Given the description of an element on the screen output the (x, y) to click on. 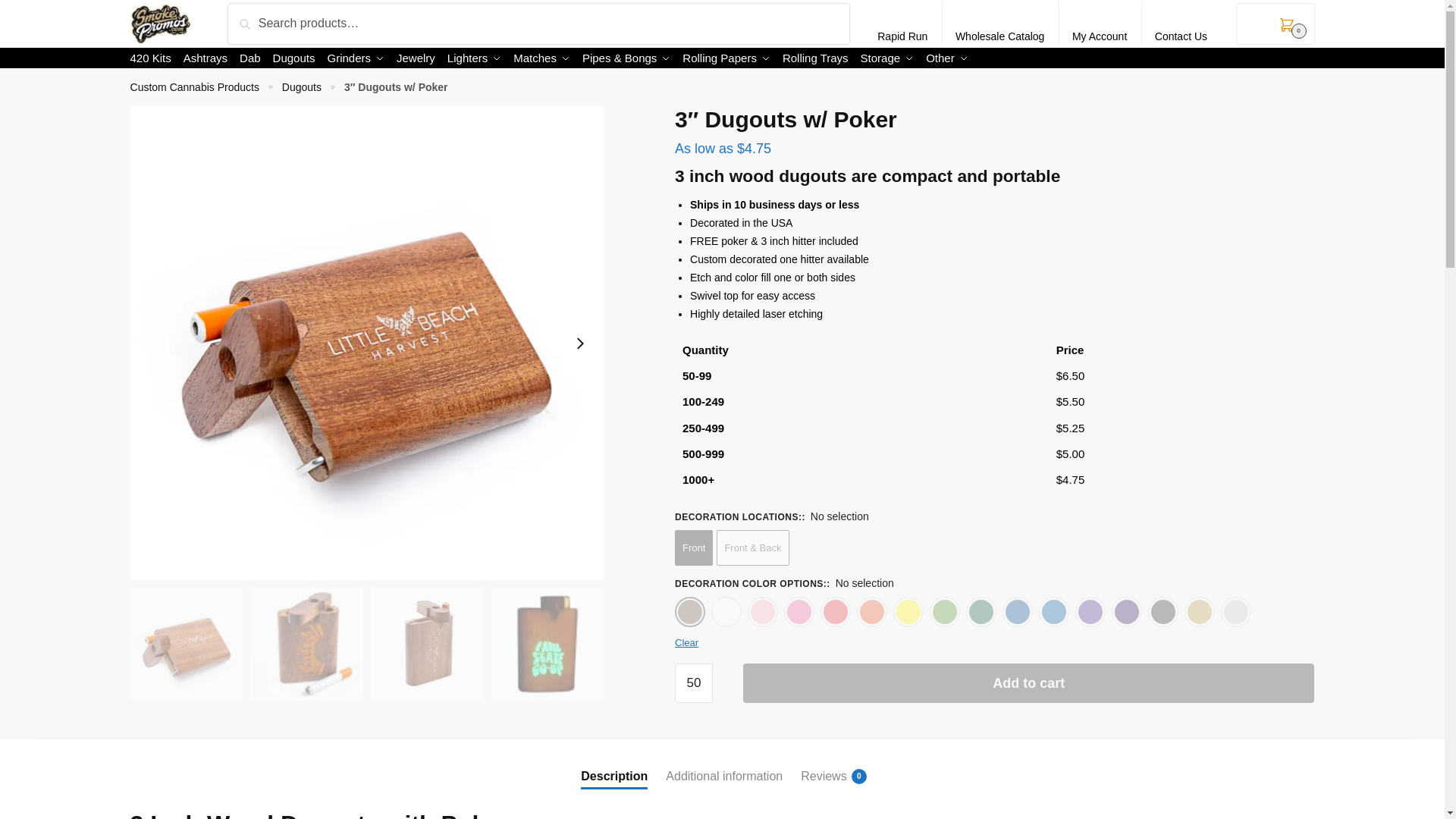
My Account (1099, 23)
Lighters (473, 58)
Jewelry (416, 58)
Dugouts (293, 58)
Rapid Run (902, 23)
Wholesale Catalog (1000, 23)
Rolling Papers (726, 58)
420 Kits (154, 58)
Custom Dab Accessories (250, 58)
Custom Lighters (473, 58)
